Given the description of an element on the screen output the (x, y) to click on. 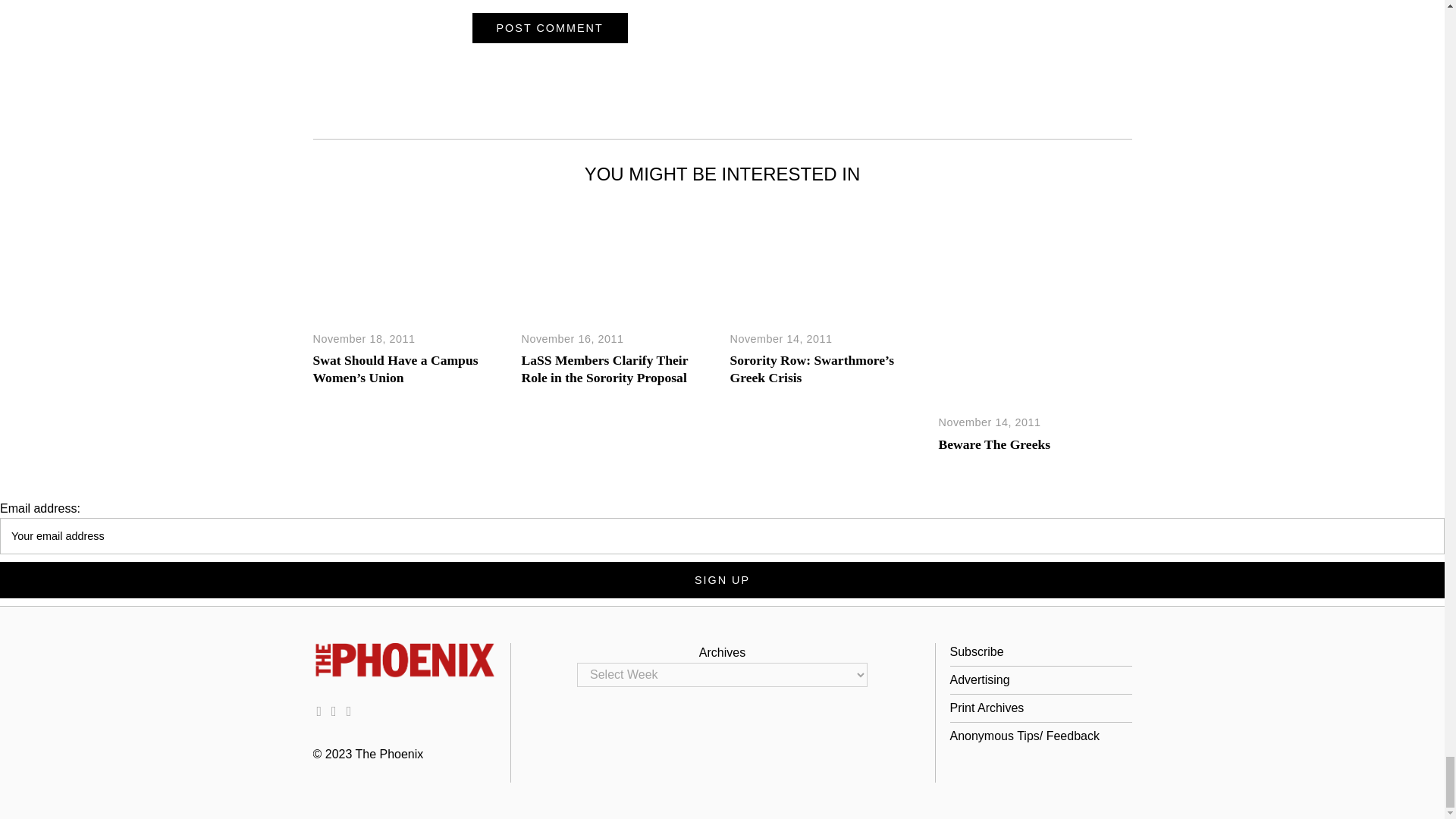
Post Comment (549, 28)
